Given the description of an element on the screen output the (x, y) to click on. 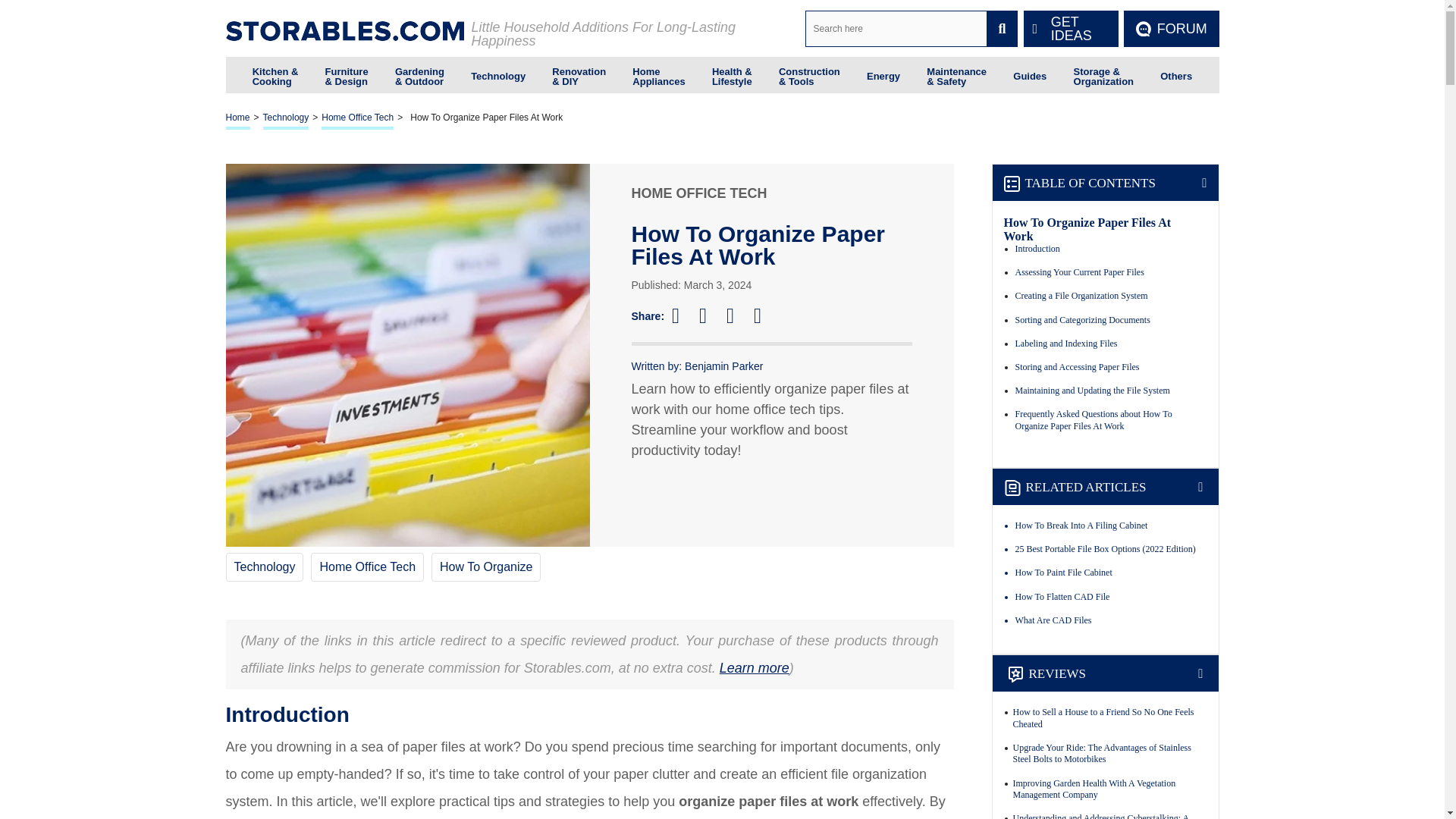
Technology (497, 74)
Share on WhatsApp (764, 315)
Share on Twitter (709, 315)
Share on Pinterest (737, 315)
GET IDEAS (1070, 28)
Share on Facebook (682, 315)
FORUM (1171, 28)
